Given the description of an element on the screen output the (x, y) to click on. 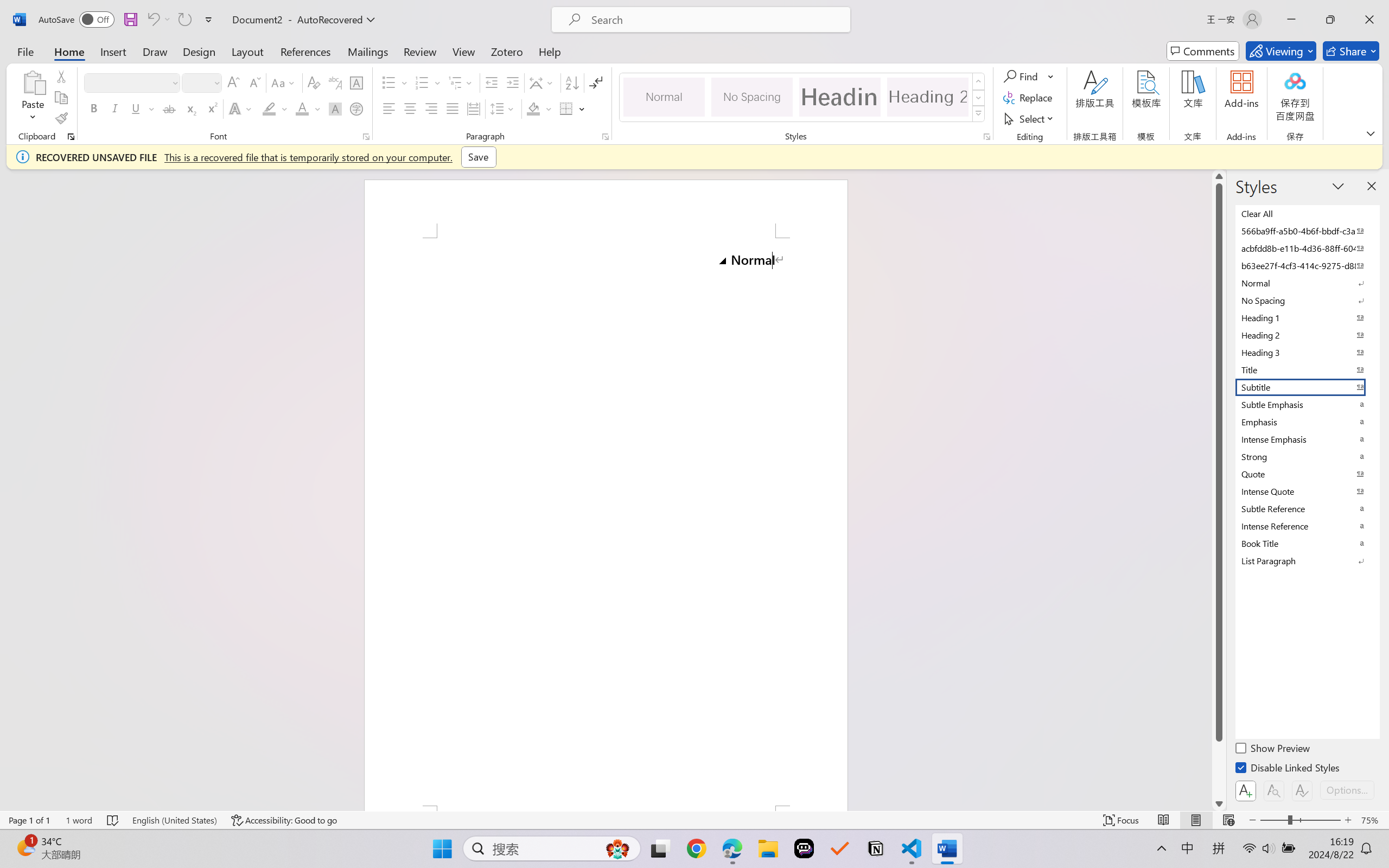
Shading (539, 108)
Show Preview (1273, 749)
Shrink Font (253, 82)
Subtle Emphasis (1306, 404)
Emphasis (1306, 421)
Align Left (388, 108)
Row up (978, 81)
Heading 2 (927, 96)
Paragraph... (605, 136)
